Given the description of an element on the screen output the (x, y) to click on. 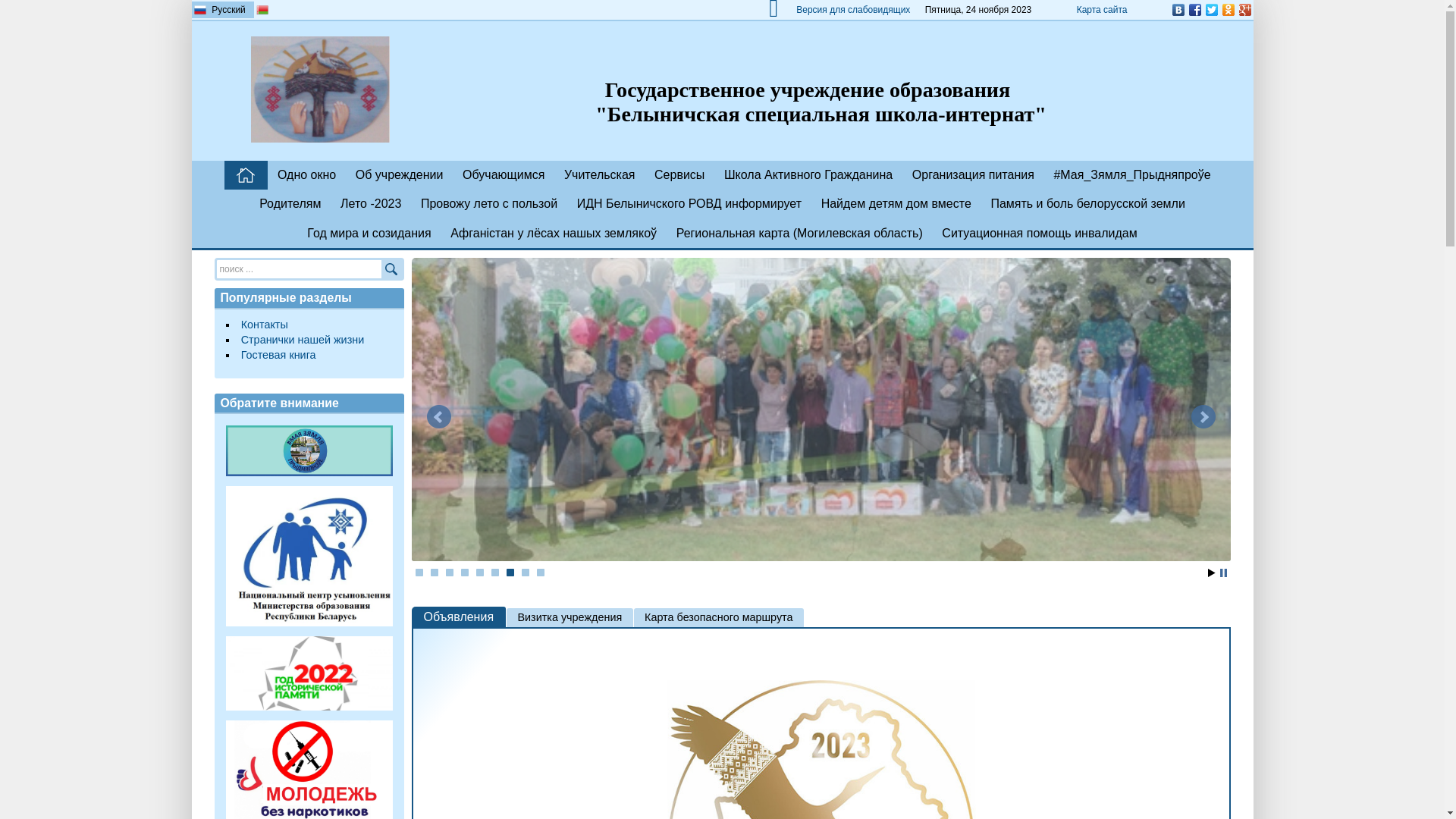
5 Element type: text (479, 572)
Twitter Element type: hover (1210, 9)
Stop Element type: text (1222, 572)
Start Element type: text (1210, 572)
Prev Element type: text (438, 416)
Facebook Element type: hover (1194, 9)
4 Element type: text (464, 572)
8 Element type: text (525, 572)
2 Element type: text (434, 572)
6 Element type: text (494, 572)
1 Element type: text (419, 572)
9 Element type: text (540, 572)
Next Element type: text (1202, 416)
Google Plus Element type: hover (1244, 9)
7 Element type: text (510, 572)
3 Element type: text (449, 572)
